Given the description of an element on the screen output the (x, y) to click on. 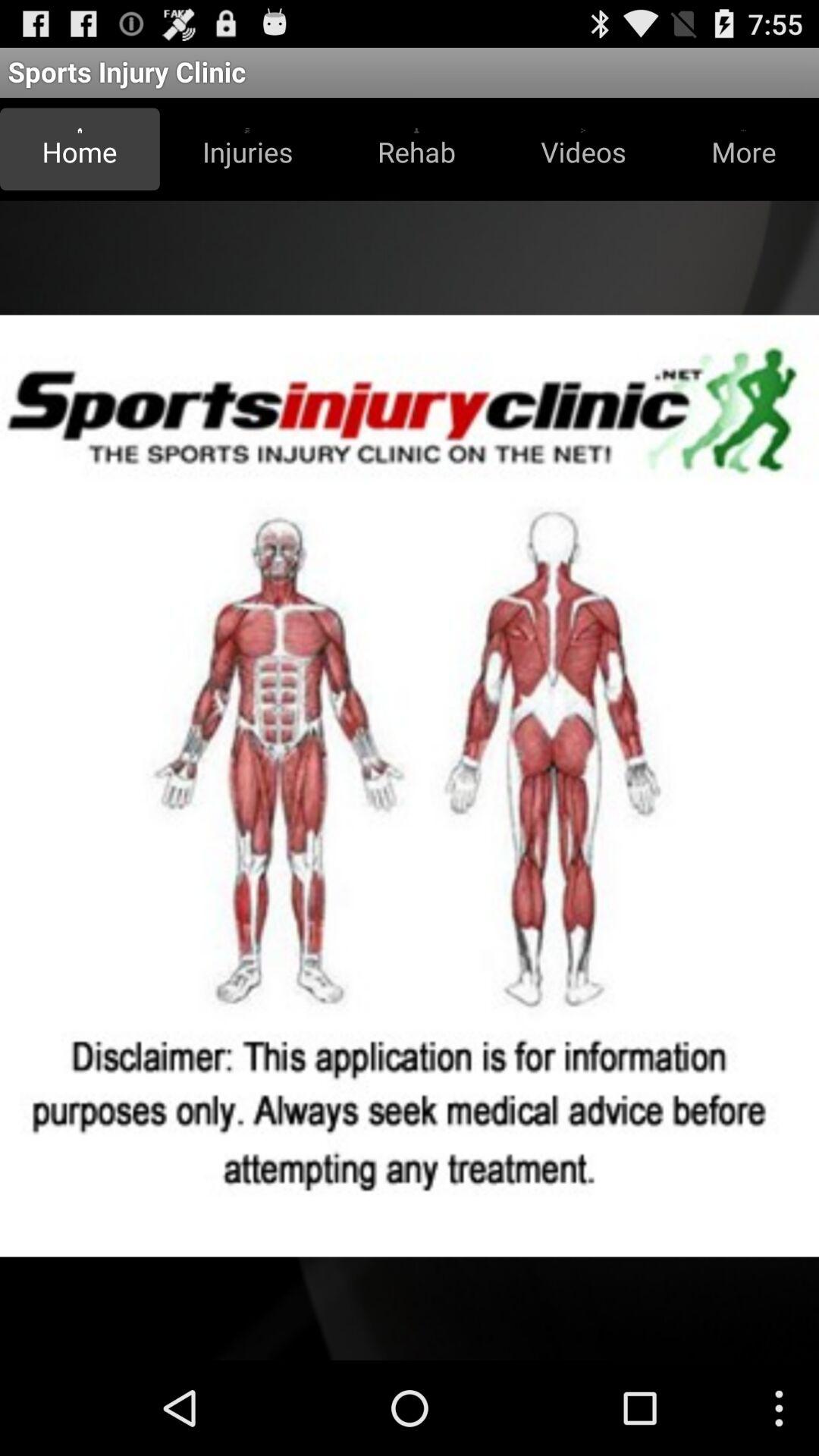
turn off item to the left of rehab (246, 149)
